Given the description of an element on the screen output the (x, y) to click on. 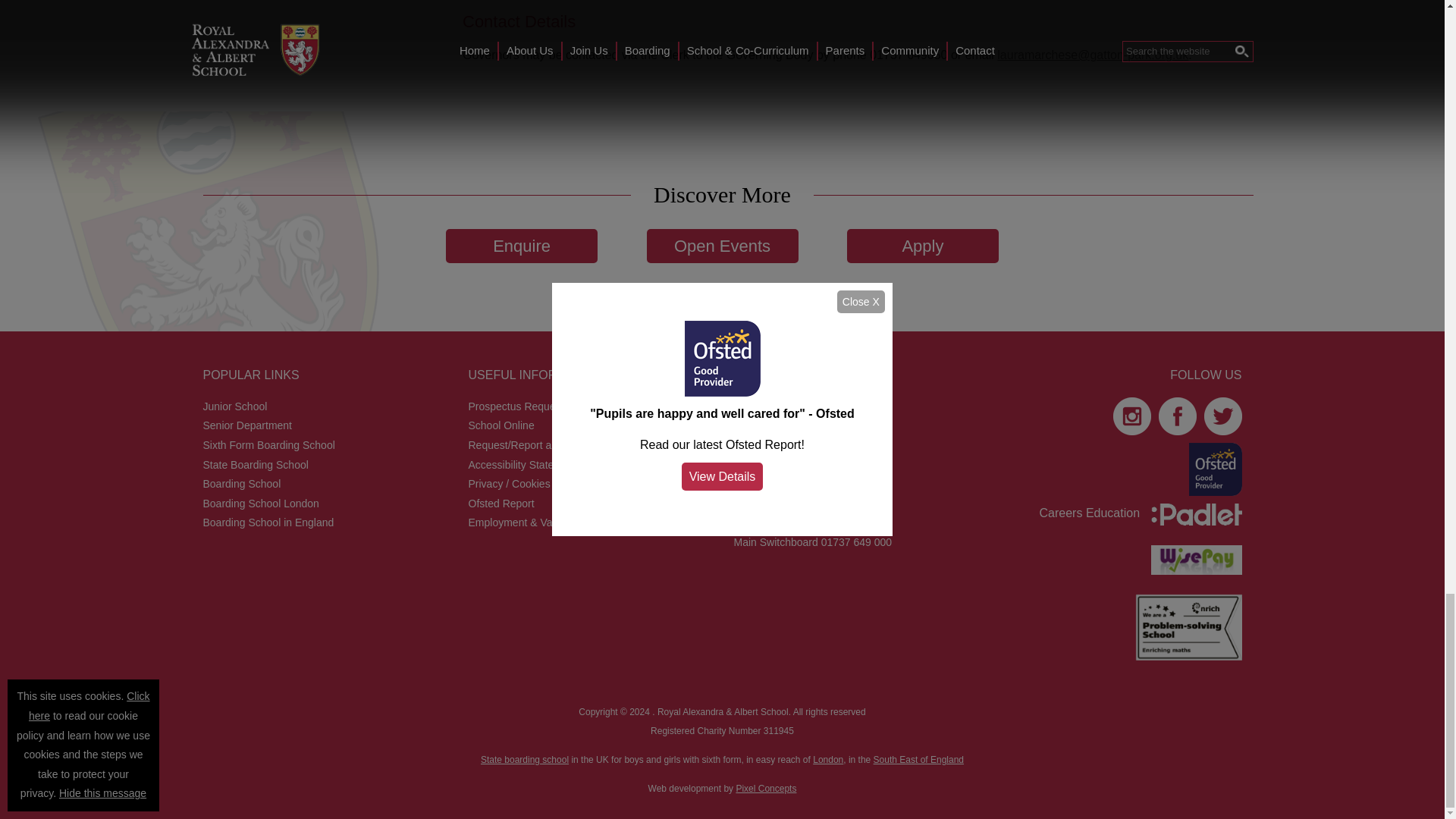
Instagram (1128, 415)
Facebook (1173, 415)
Twitter (1218, 415)
Instagram (1191, 514)
